Given the description of an element on the screen output the (x, y) to click on. 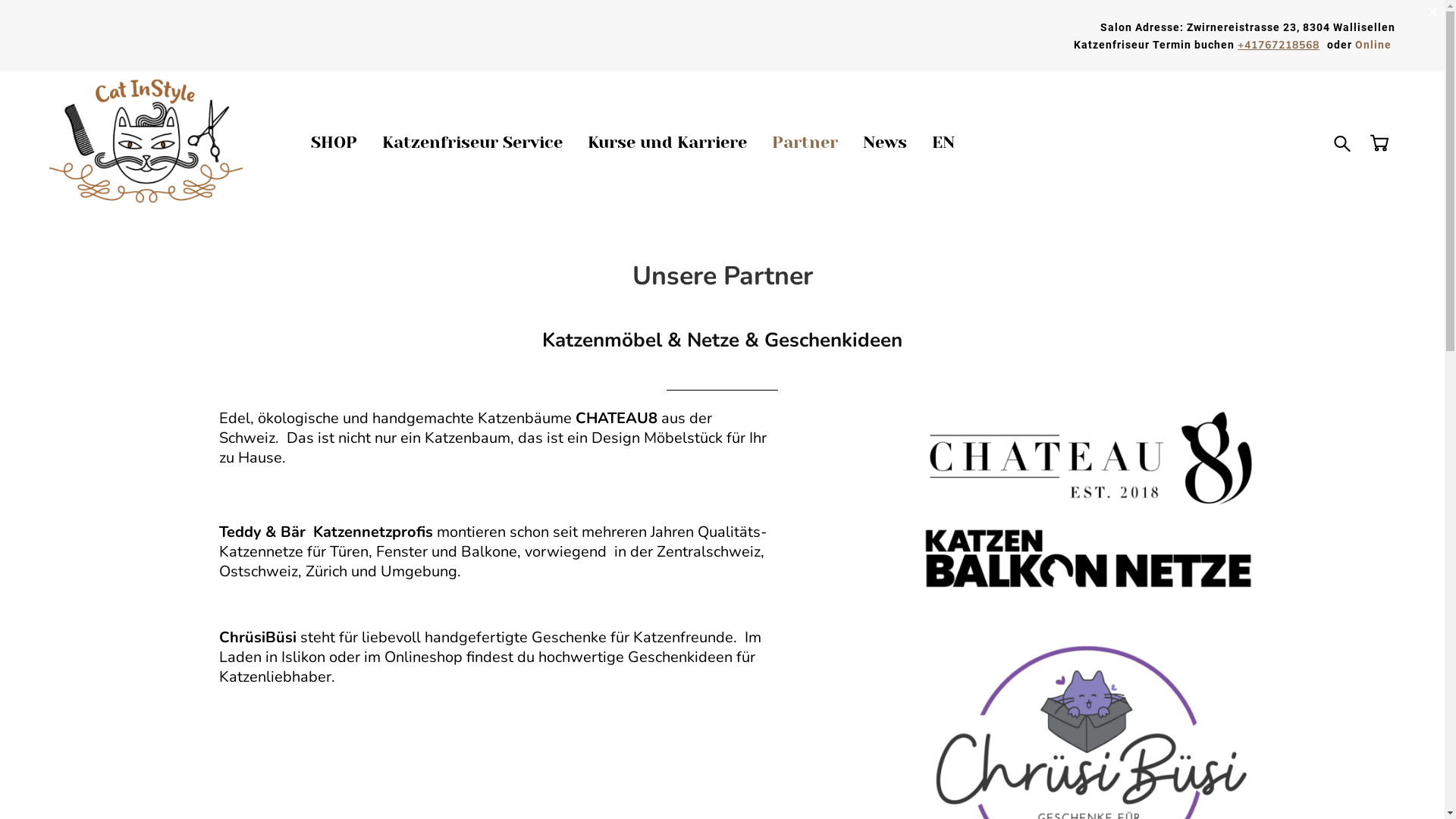
Katzenfriseur Service Element type: text (472, 142)
EN Element type: text (942, 142)
Online Element type: text (1373, 44)
News Element type: text (884, 142)
Kurse und Karriere Element type: text (666, 142)
SHOP Element type: text (333, 142)
Partner Element type: text (804, 142)
